Given the description of an element on the screen output the (x, y) to click on. 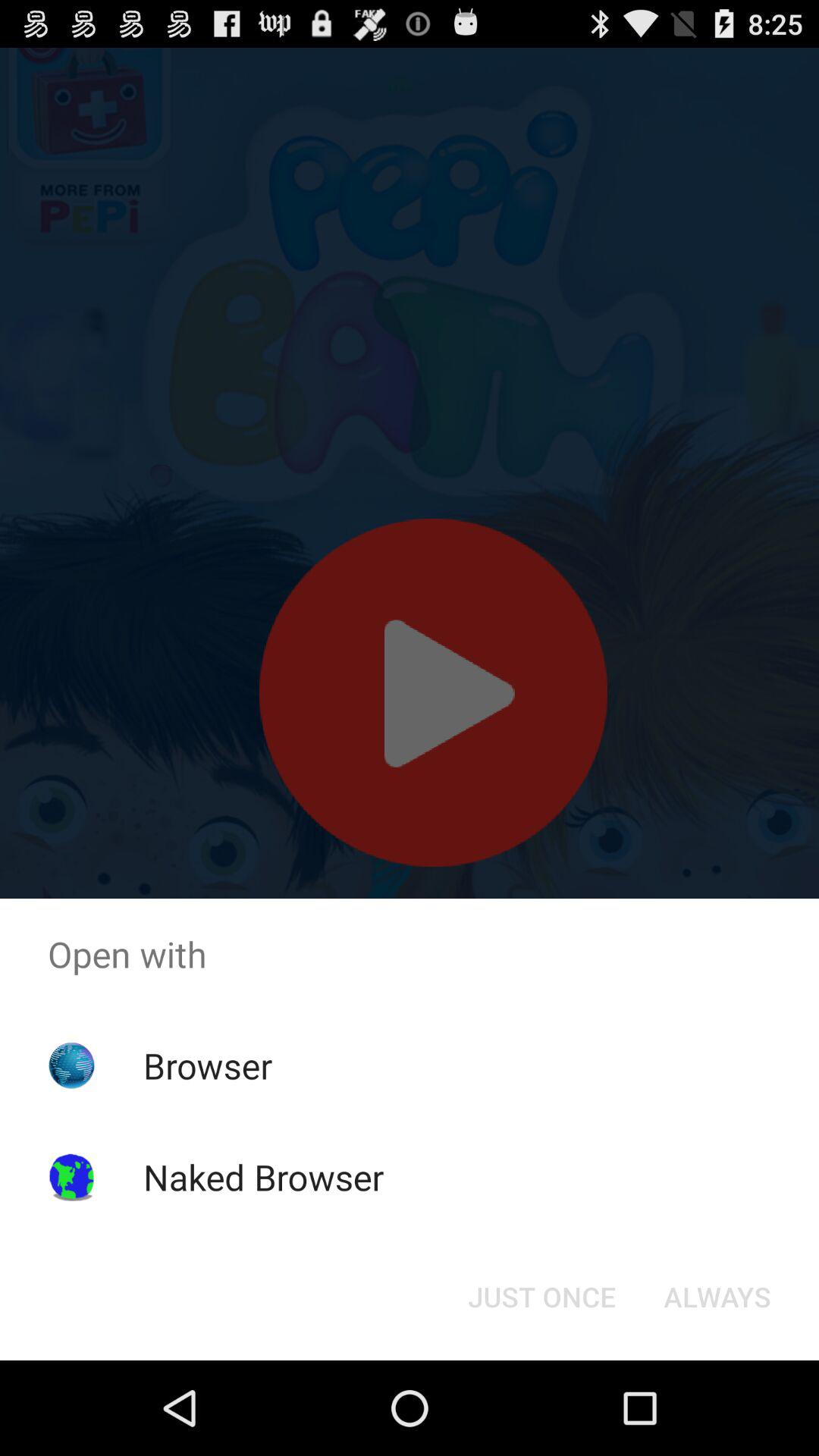
select button at the bottom (541, 1296)
